Given the description of an element on the screen output the (x, y) to click on. 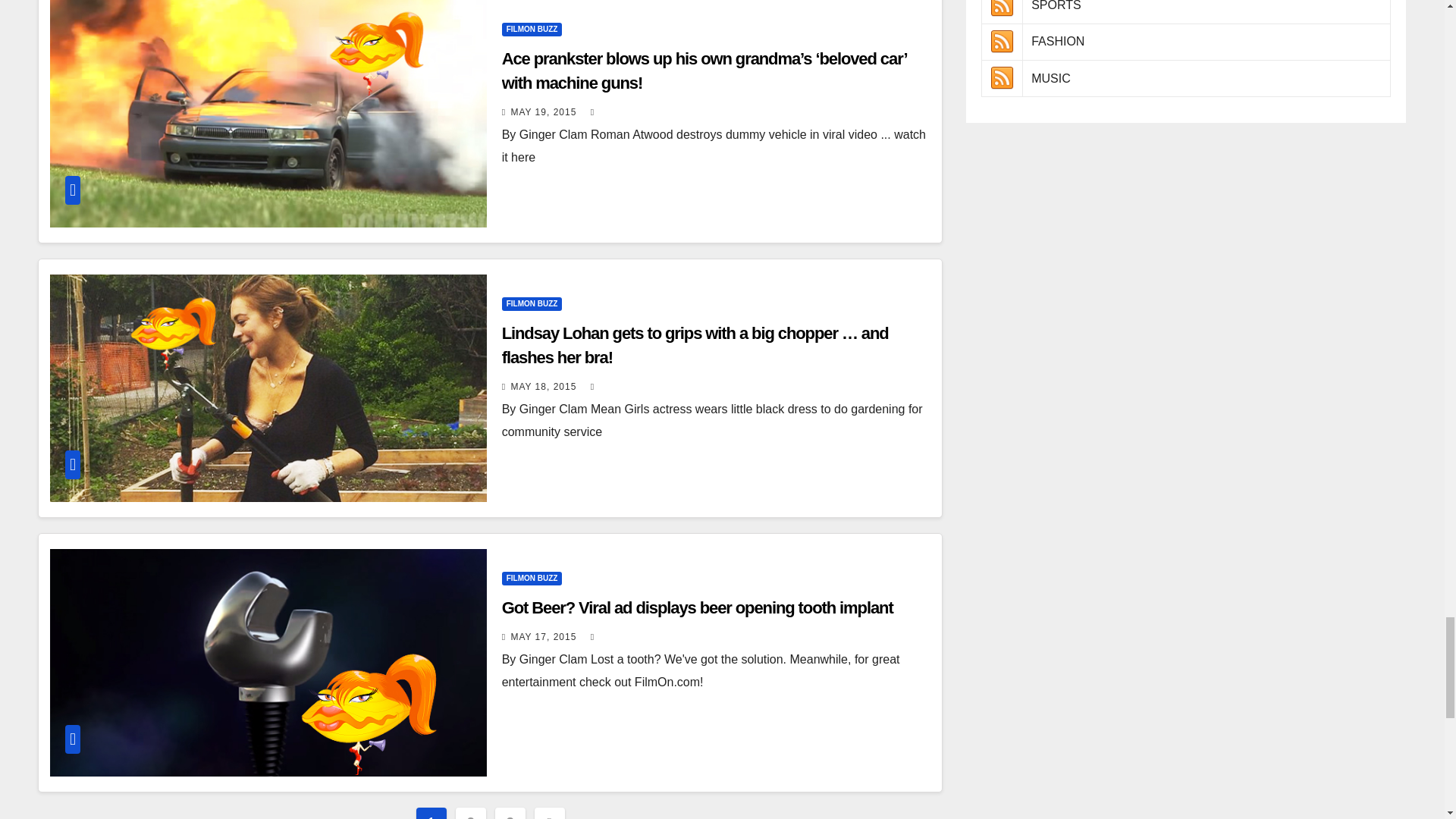
Fashion (1001, 42)
Music (1001, 78)
Sports (1001, 8)
